Given the description of an element on the screen output the (x, y) to click on. 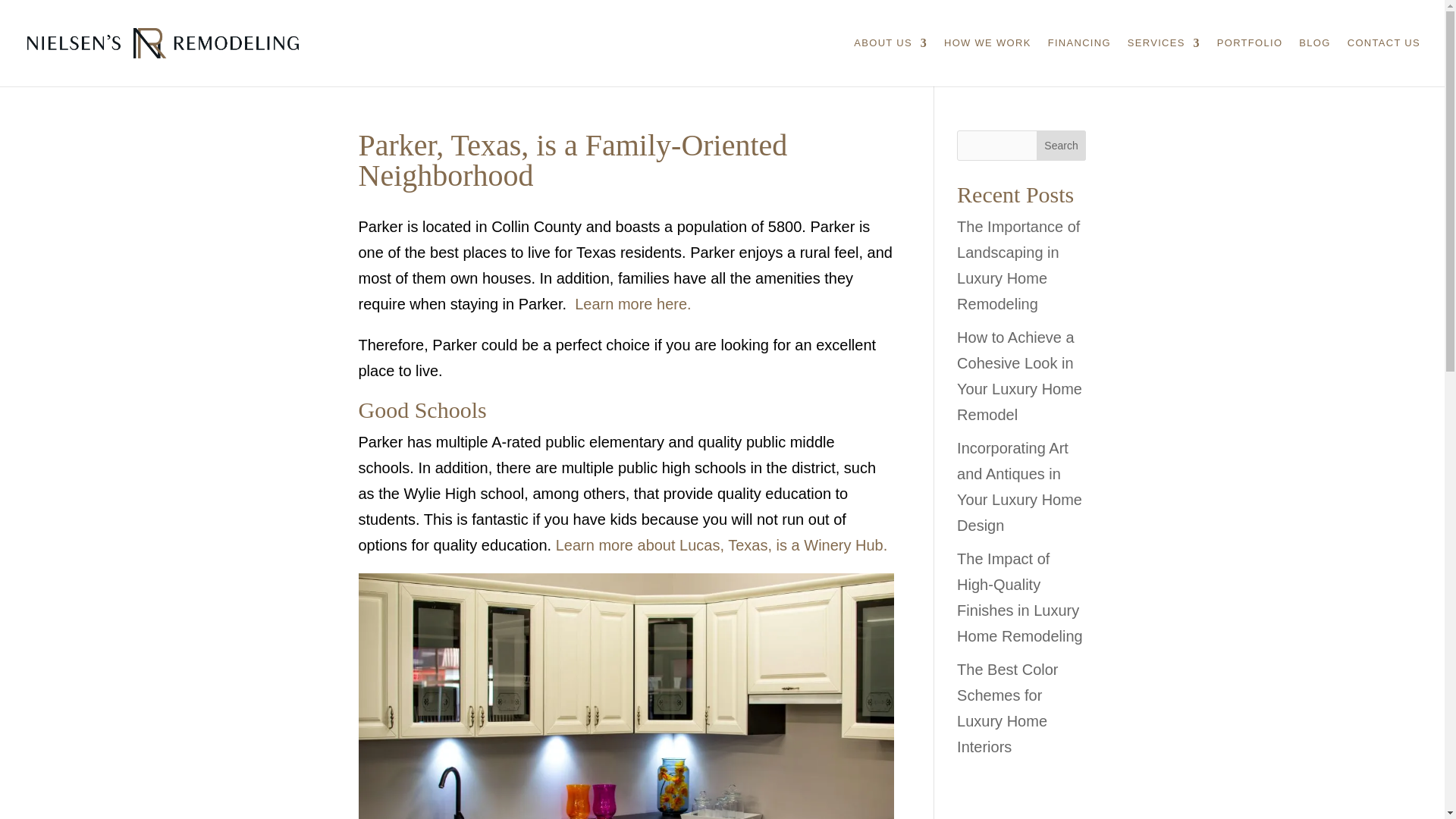
HOW WE WORK (986, 61)
CONTACT US (1384, 61)
Search (1061, 145)
ABOUT US (890, 61)
The Best Color Schemes for Luxury Home Interiors (1007, 707)
The Importance of Landscaping in Luxury Home Remodeling (1018, 265)
PORTFOLIO (1249, 61)
Parker, Texas, is a Family-Oriented Neighborhood (625, 696)
Learn more here. (632, 303)
Incorporating Art and Antiques in Your Luxury Home Design (1018, 486)
FINANCING (1079, 61)
SERVICES (1162, 61)
How to Achieve a Cohesive Look in Your Luxury Home Remodel (1018, 376)
Learn more about Lucas, Texas, is a Winery Hub. (722, 545)
